Given the description of an element on the screen output the (x, y) to click on. 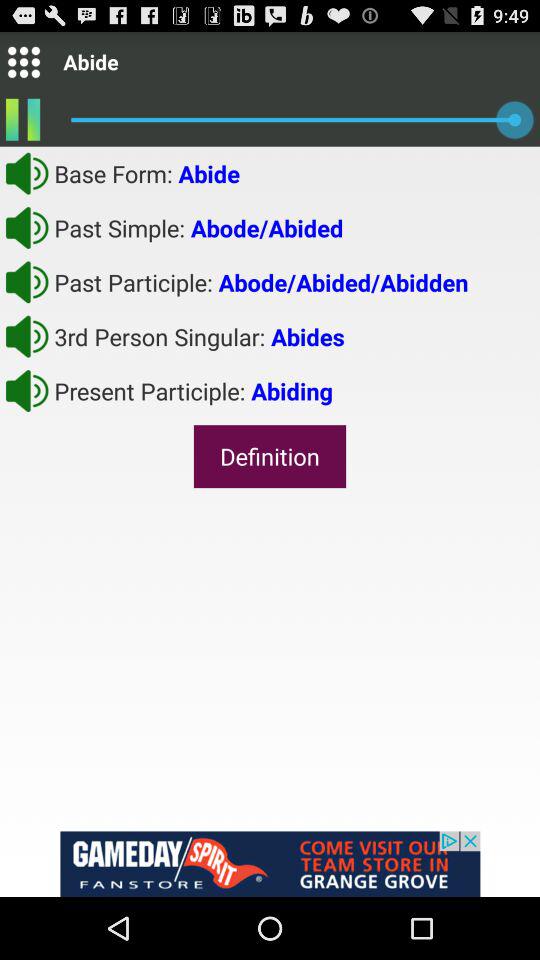
mute (27, 390)
